Given the description of an element on the screen output the (x, y) to click on. 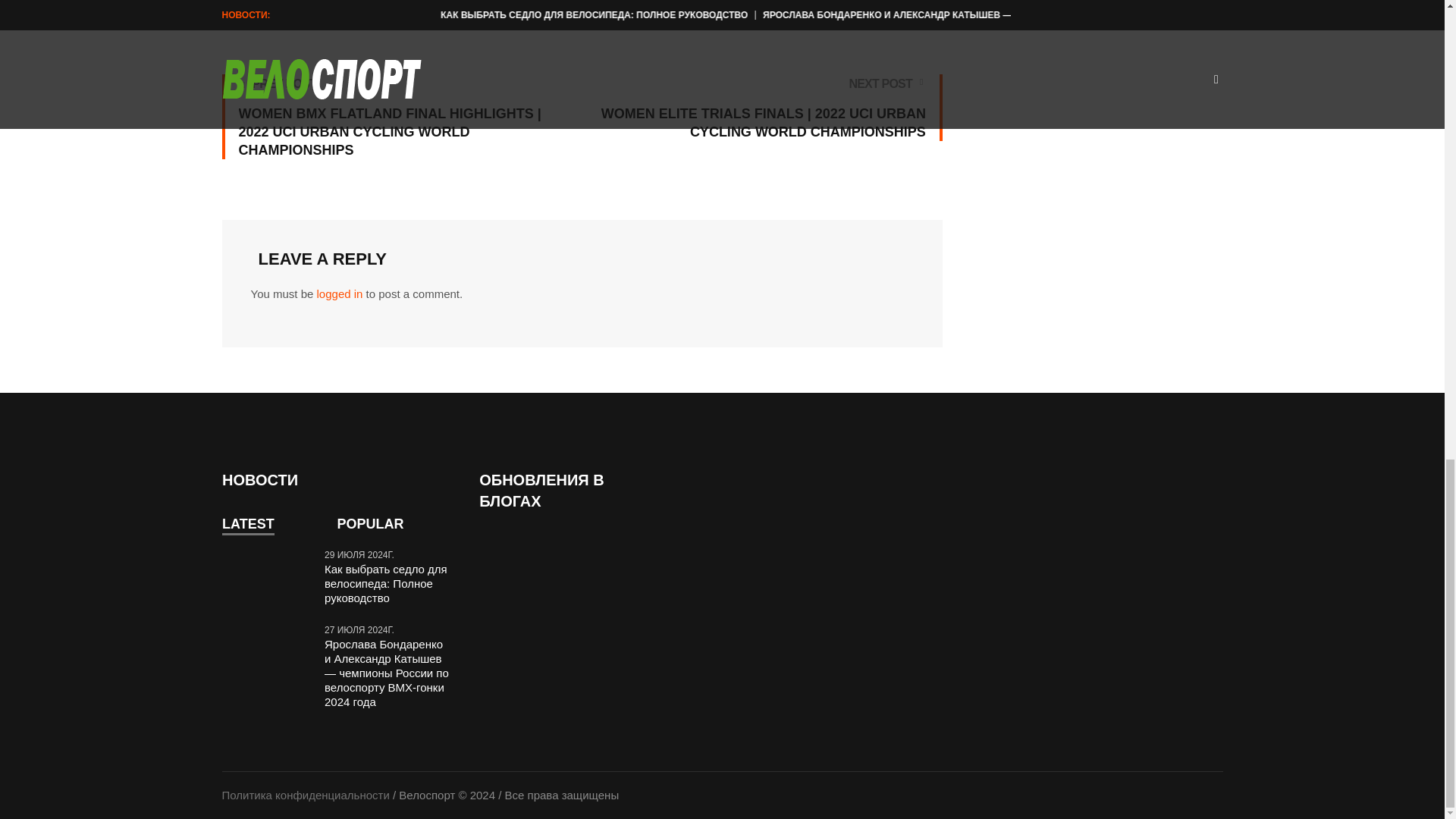
logged in (339, 293)
